Given the description of an element on the screen output the (x, y) to click on. 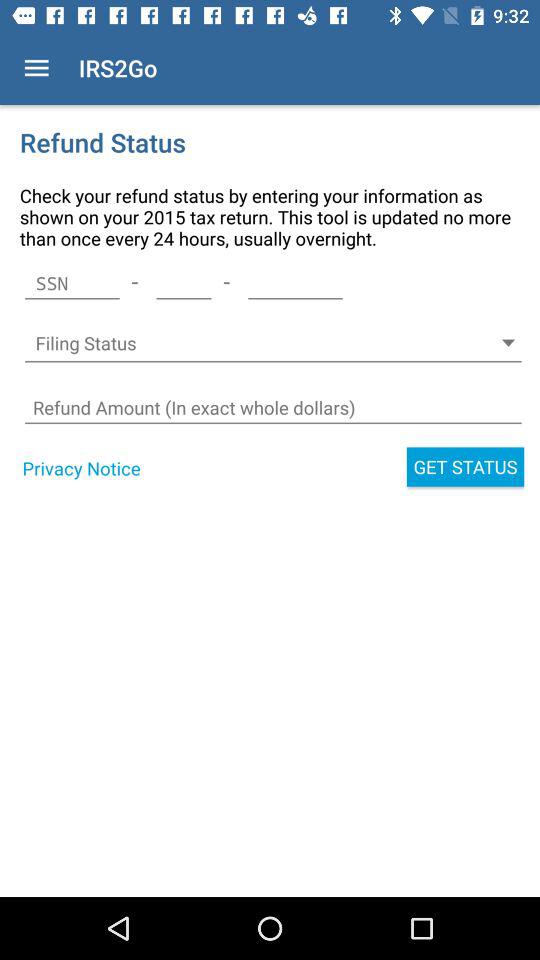
open item below the check your refund item (183, 283)
